Given the description of an element on the screen output the (x, y) to click on. 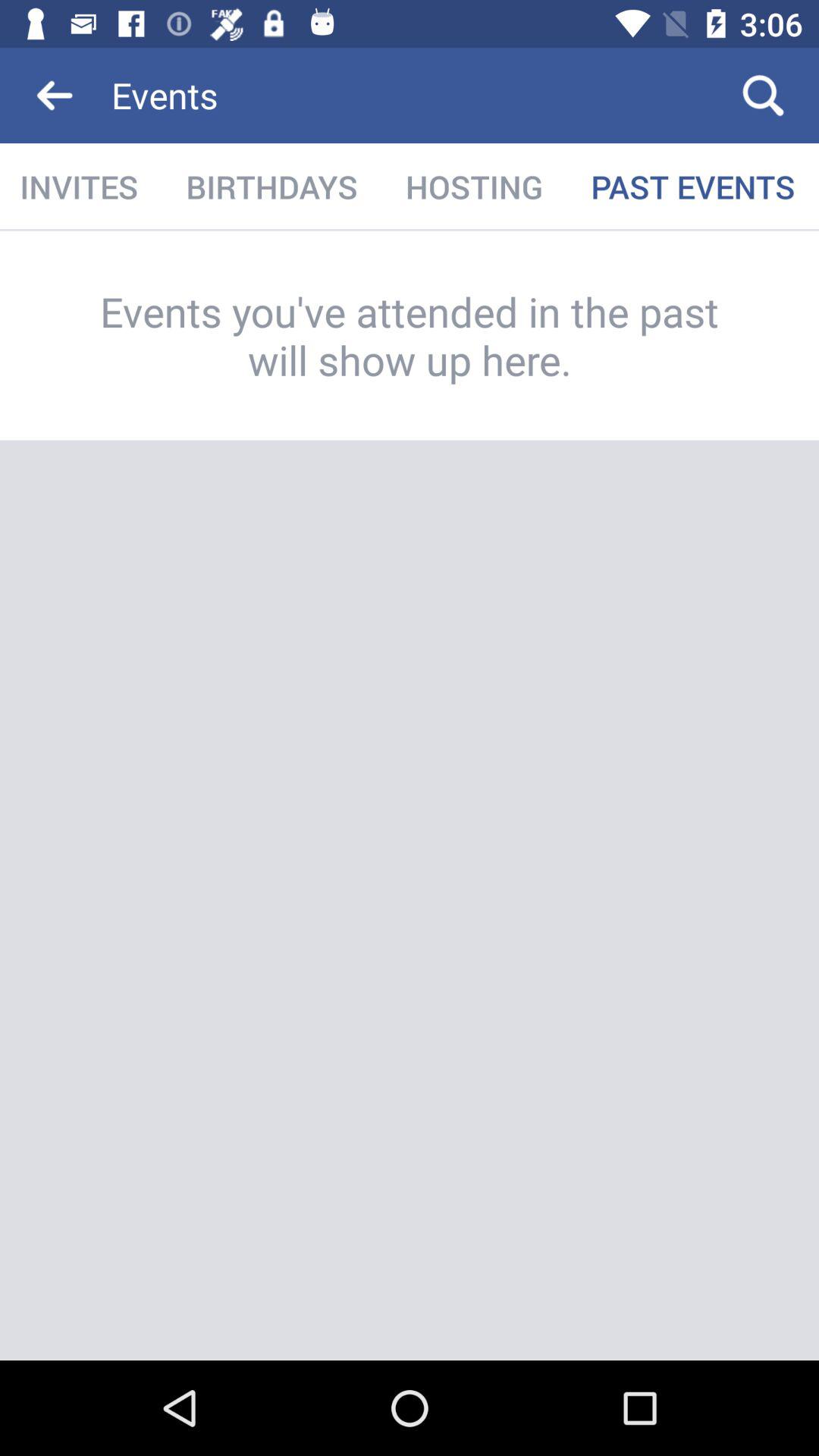
tap invites icon (81, 186)
